Given the description of an element on the screen output the (x, y) to click on. 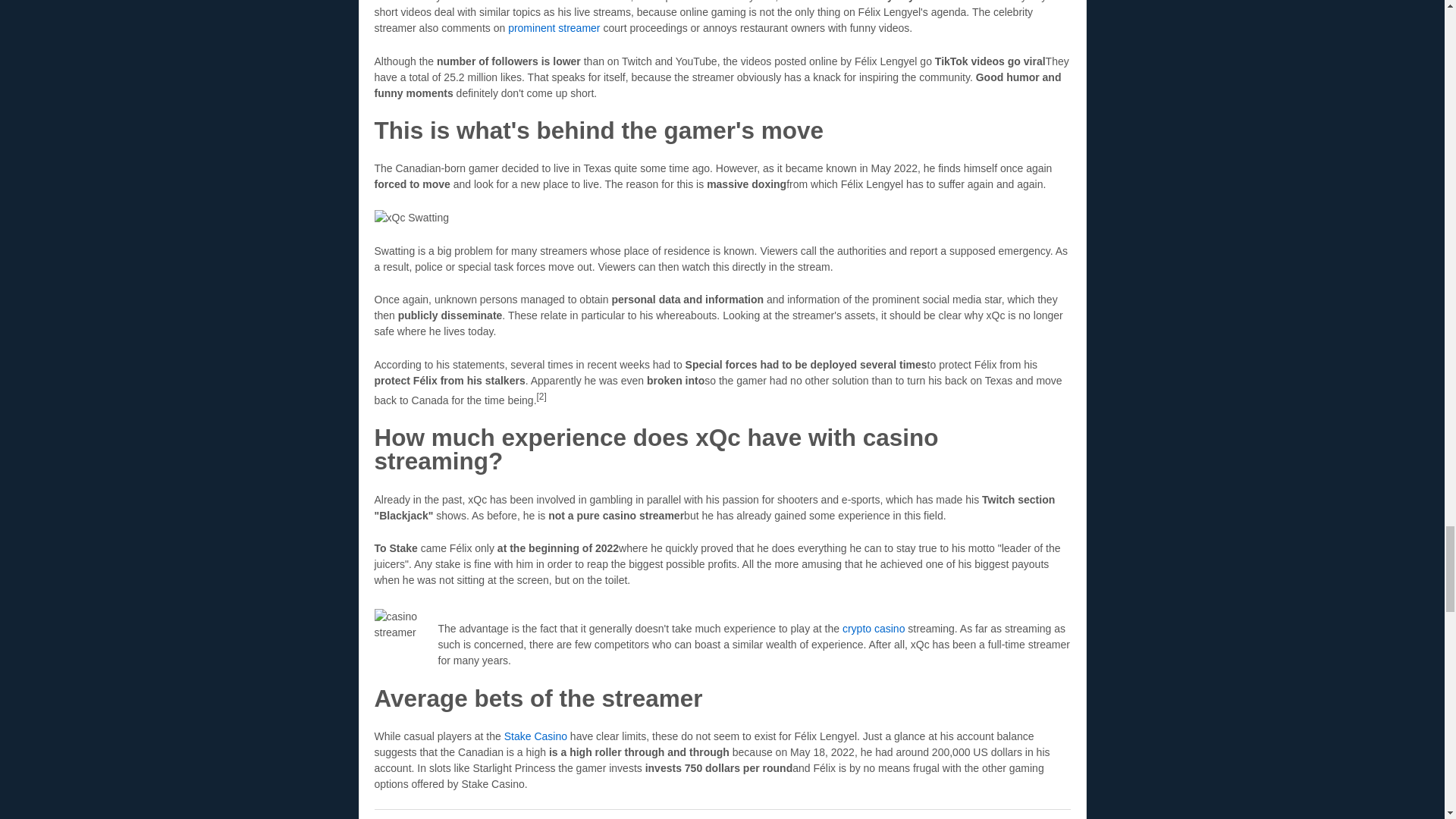
Stake Casino (535, 736)
crypto casino (873, 628)
prominent streamer (553, 28)
